Given the description of an element on the screen output the (x, y) to click on. 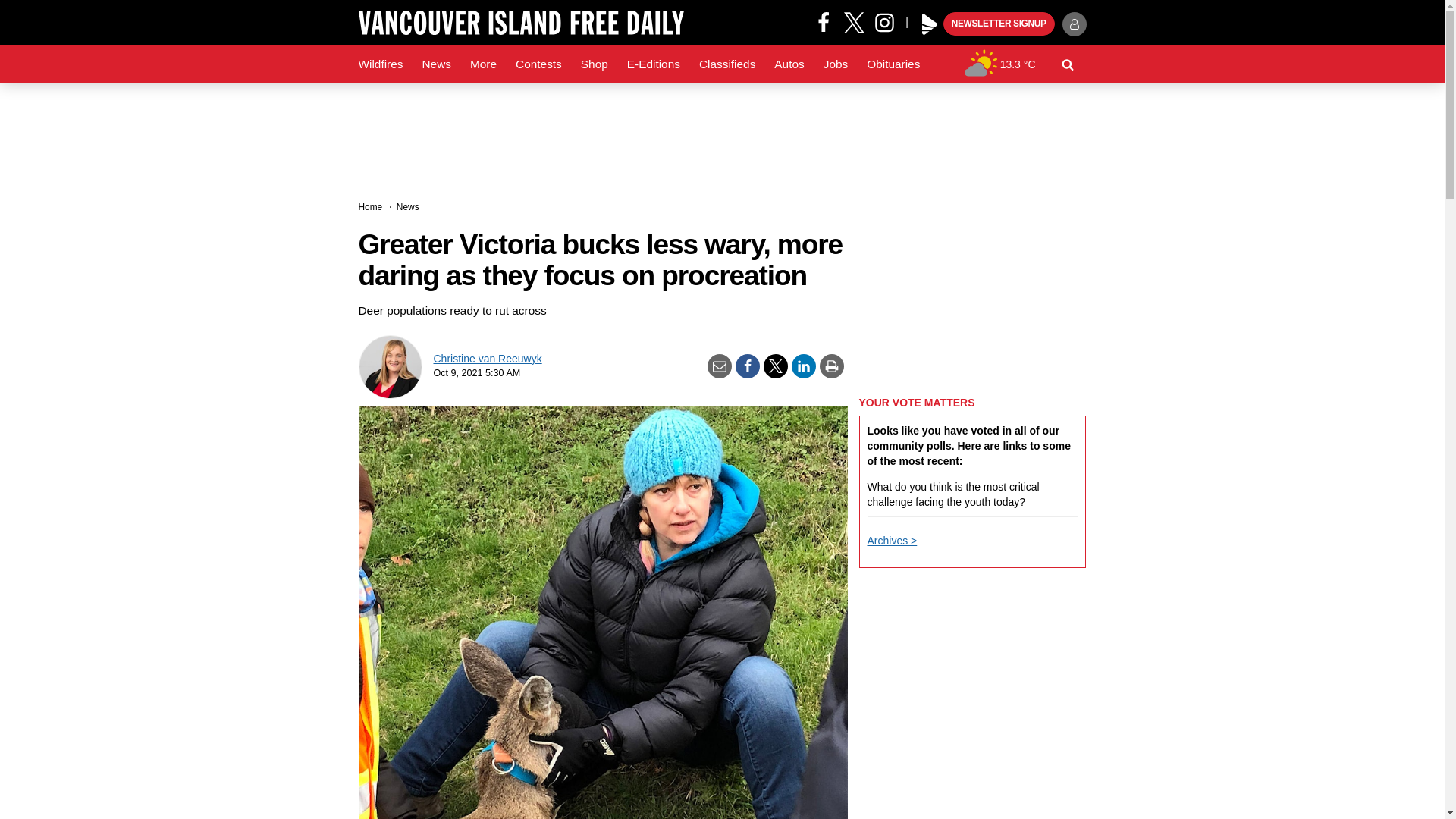
Facebook (823, 21)
NEWSLETTER SIGNUP (998, 24)
Black Press Media (929, 24)
X (853, 21)
Wildfires (380, 64)
Play (929, 24)
News (435, 64)
Instagram (889, 21)
